Given the description of an element on the screen output the (x, y) to click on. 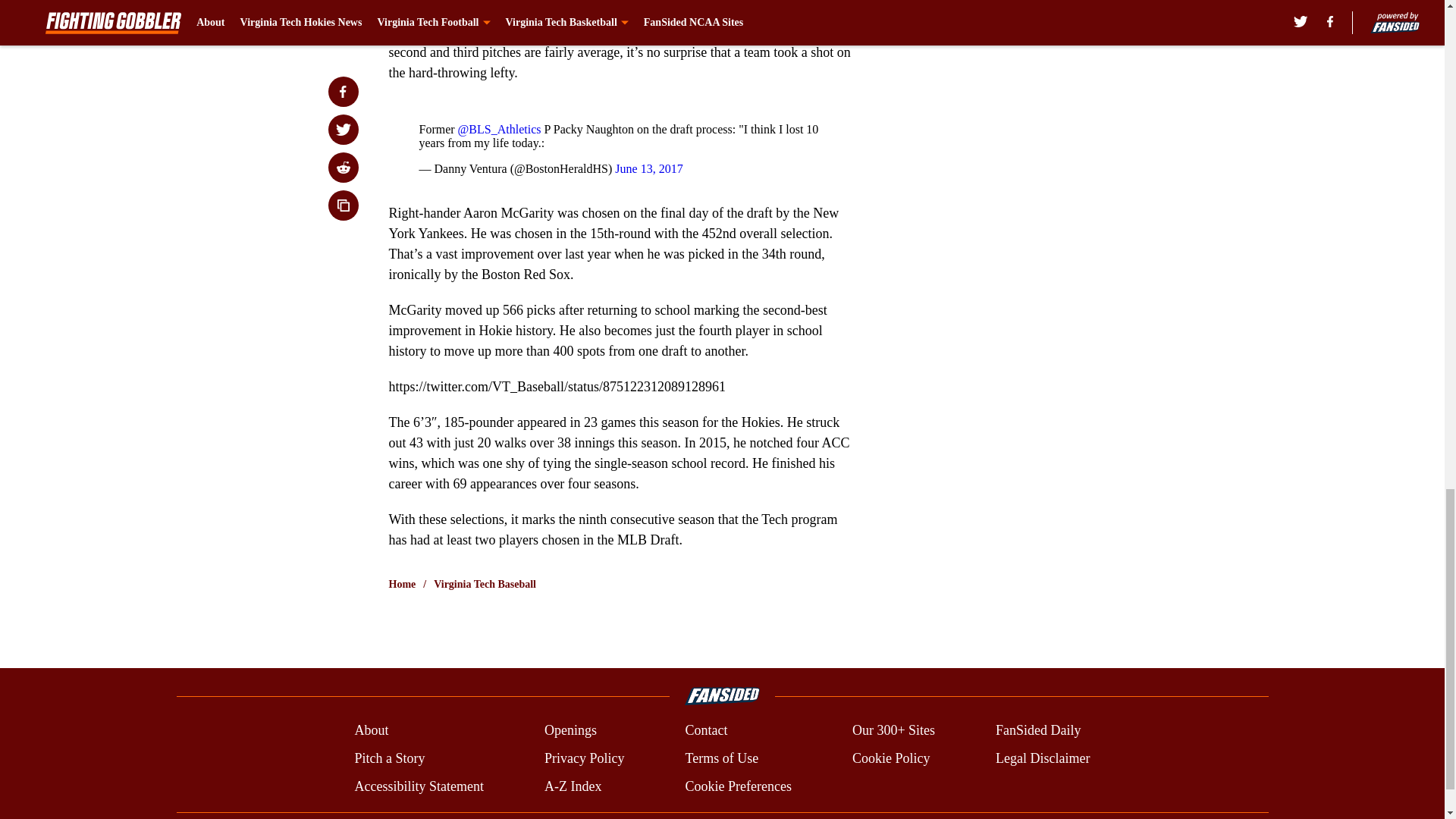
About (370, 730)
June 13, 2017 (648, 168)
Accessibility Statement (418, 786)
Home (401, 584)
FanSided Daily (1038, 730)
Cookie Policy (890, 758)
Terms of Use (721, 758)
Legal Disclaimer (1042, 758)
Pitch a Story (389, 758)
Virginia Tech Baseball (484, 584)
